Given the description of an element on the screen output the (x, y) to click on. 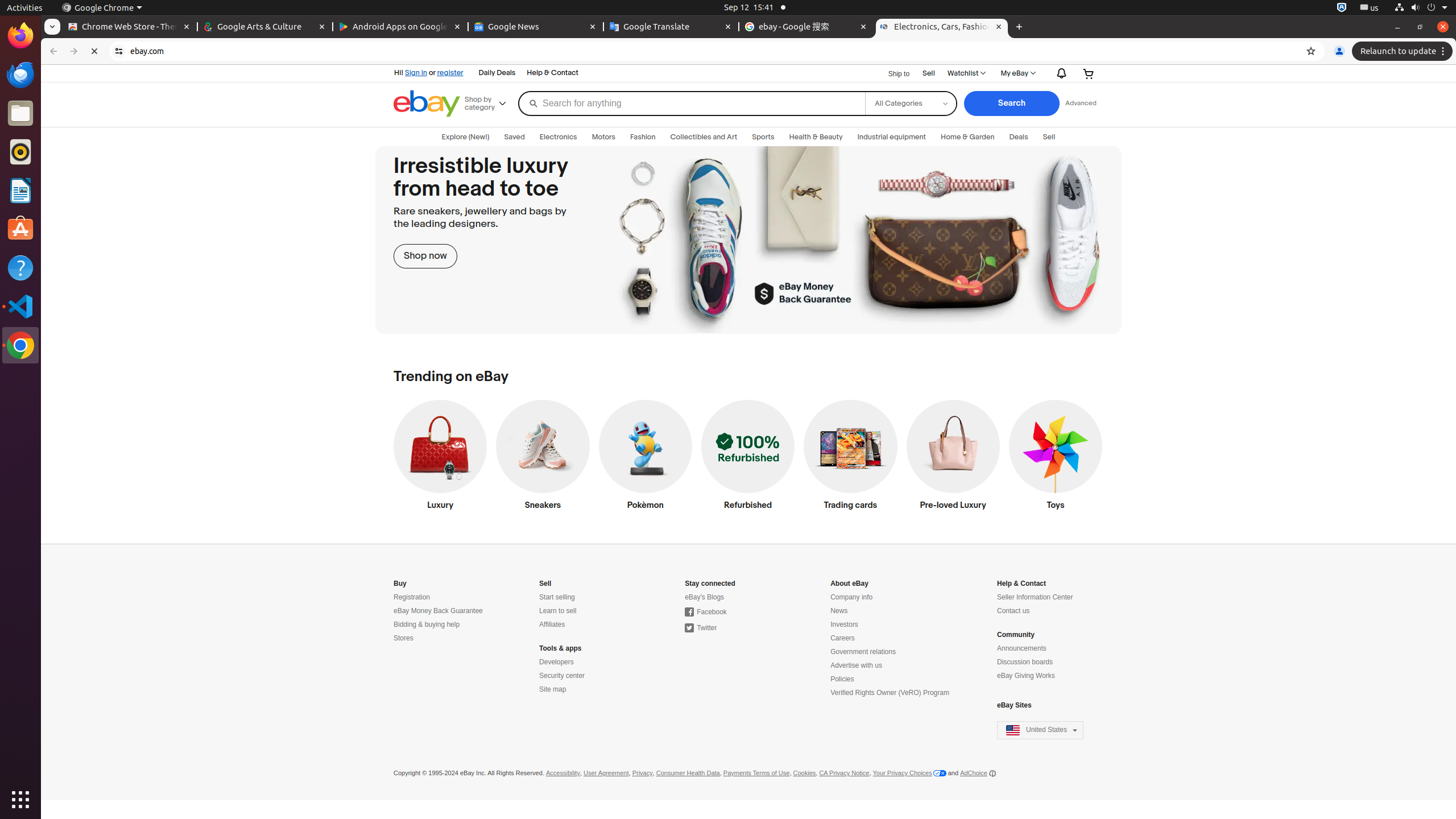
Google Arts & Culture - Memory usage - 58.2 MB Element type: page-tab (264, 26)
eBay sites,United States Element type: push-button (1040, 730)
System Element type: menu (1420, 7)
Your shopping cart Element type: link (1088, 73)
Buy Element type: link (399, 583)
